Given the description of an element on the screen output the (x, y) to click on. 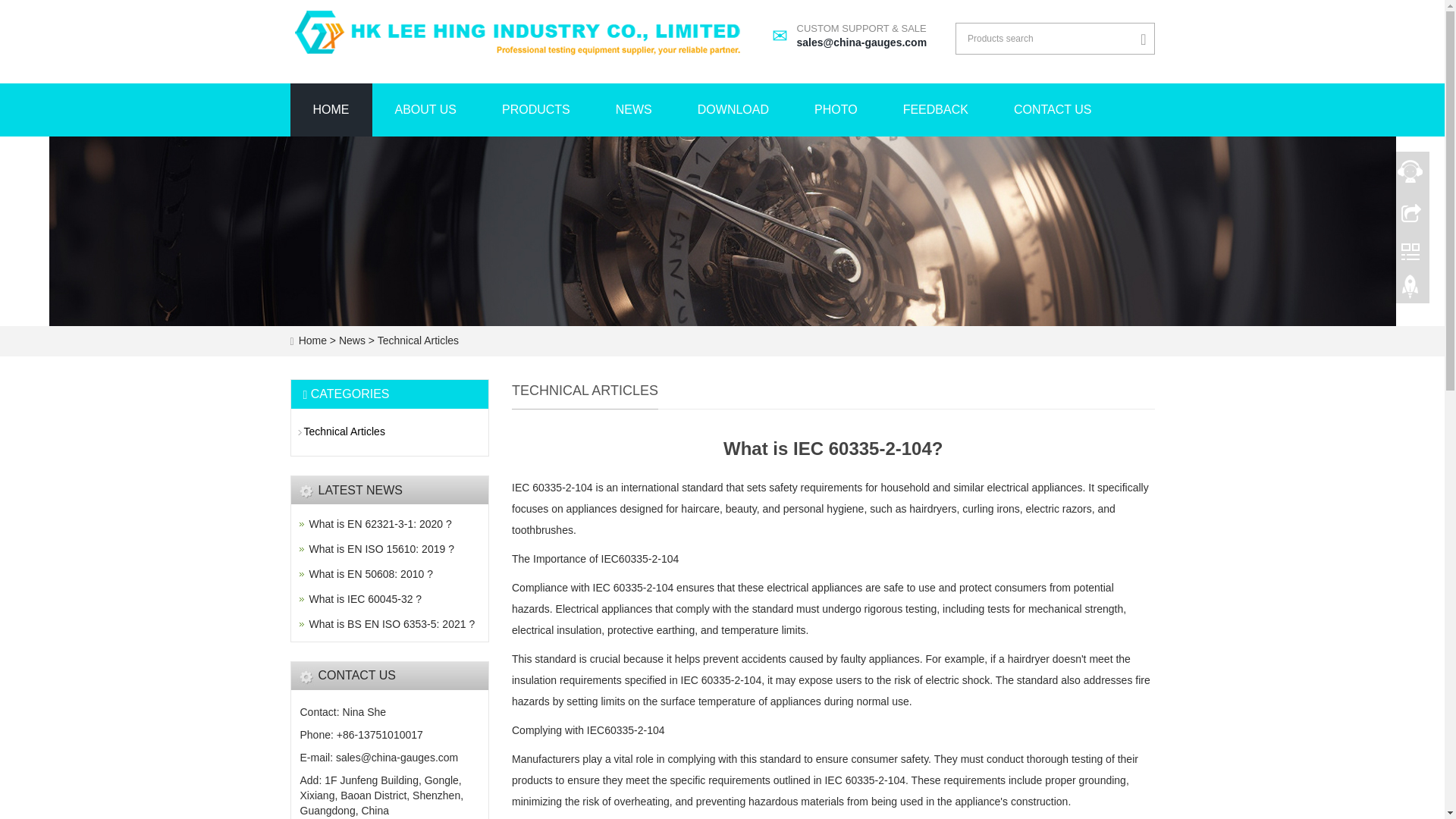
Top (381, 548)
FEEDBACK (1410, 290)
PHOTO (935, 109)
News (836, 109)
DOWNLOAD (353, 340)
CONTACT US (392, 623)
HOME (733, 109)
PRODUCTS (1053, 109)
Technical Articles (370, 573)
Home (330, 109)
NEWS (535, 109)
ABOUT US (416, 340)
